Given the description of an element on the screen output the (x, y) to click on. 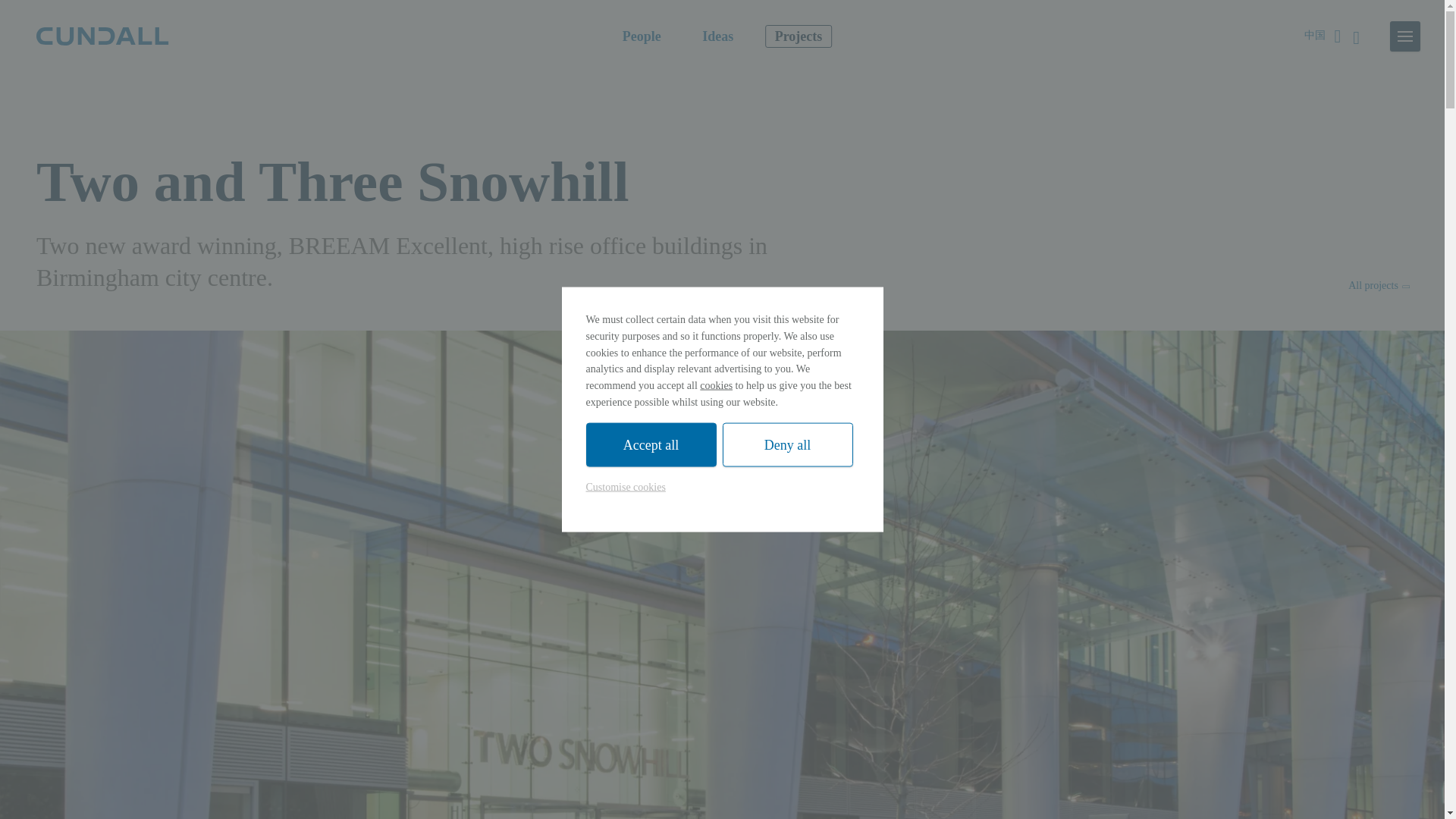
Ideas (717, 36)
cookies (716, 385)
Deny all (786, 444)
Accept all (650, 444)
Projects (798, 36)
All projects (1377, 285)
People (641, 36)
Customise cookies (625, 487)
